Given the description of an element on the screen output the (x, y) to click on. 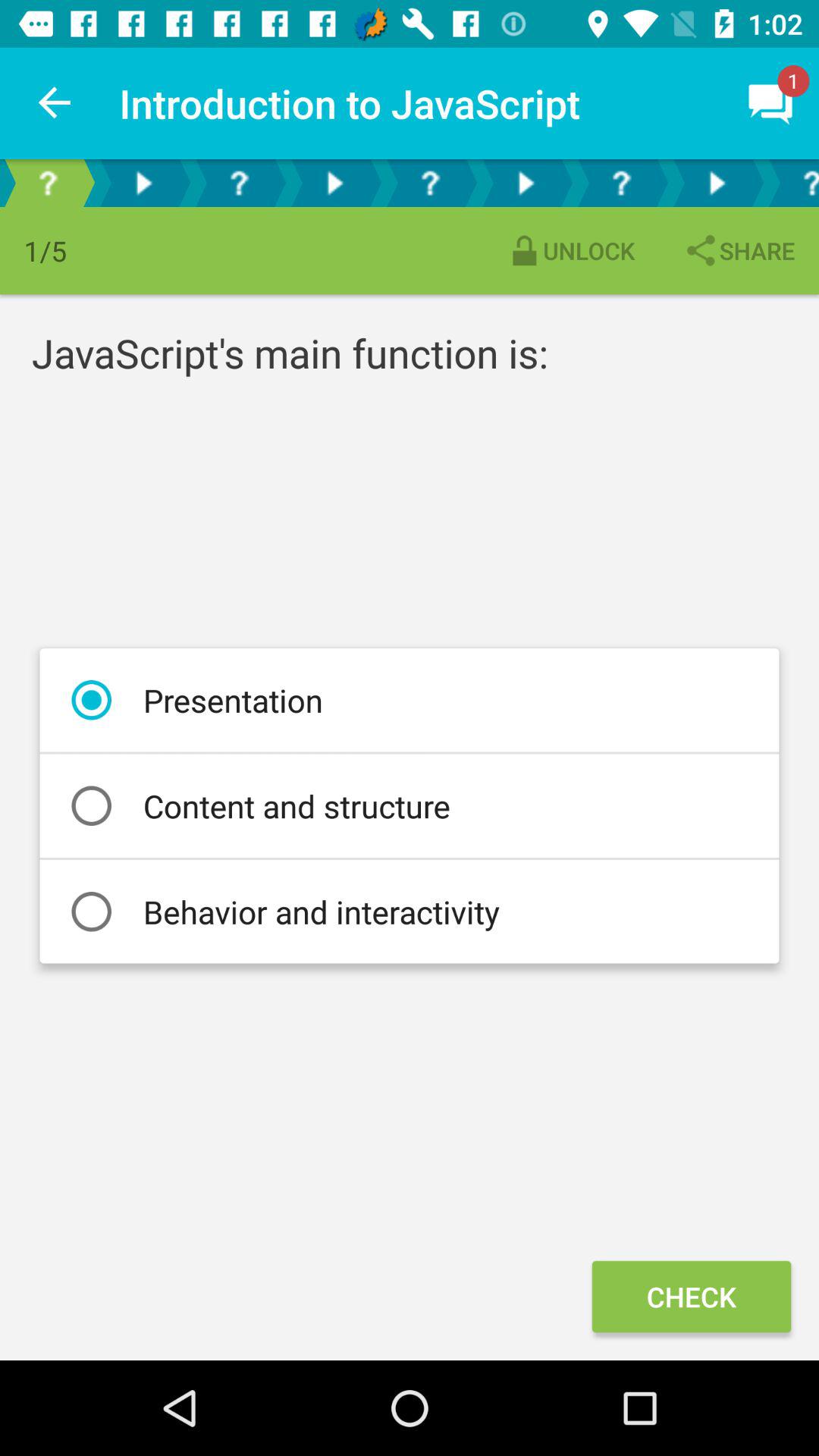
scroll until the check item (691, 1296)
